Given the description of an element on the screen output the (x, y) to click on. 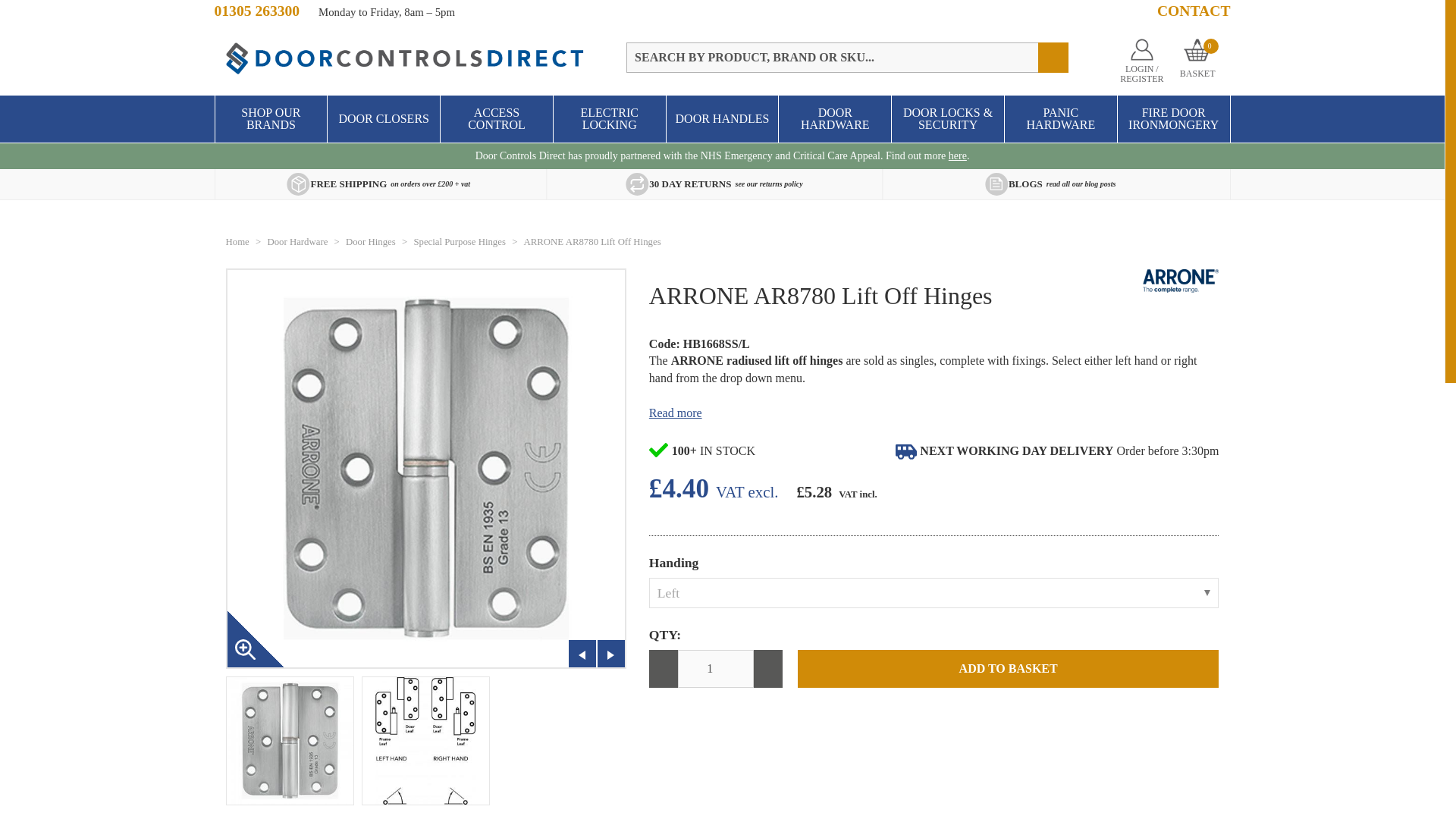
SHOP OUR BRANDS (271, 118)
01305 263300 (258, 10)
Lift off hinge handing diagram (425, 740)
CONTACT (1193, 10)
Door Controls Direct (406, 59)
Left Hand 100x88mm Lift Off Hinge - Radius (289, 740)
Log in to your customer account (1142, 61)
1 (716, 668)
